Given the description of an element on the screen output the (x, y) to click on. 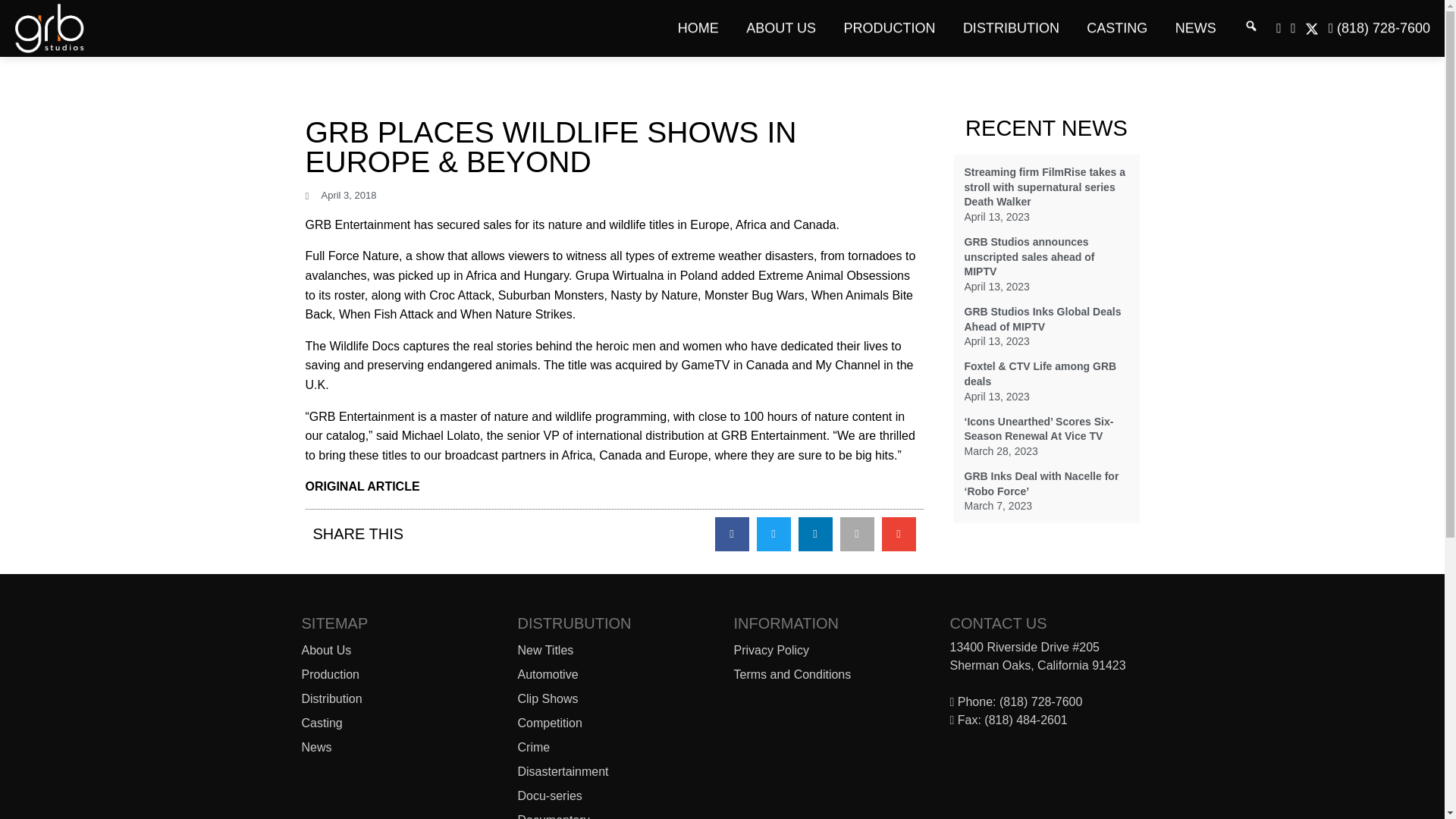
HOME (697, 28)
DISTRIBUTION (1010, 28)
PRODUCTION (889, 28)
ABOUT US (781, 28)
